Given the description of an element on the screen output the (x, y) to click on. 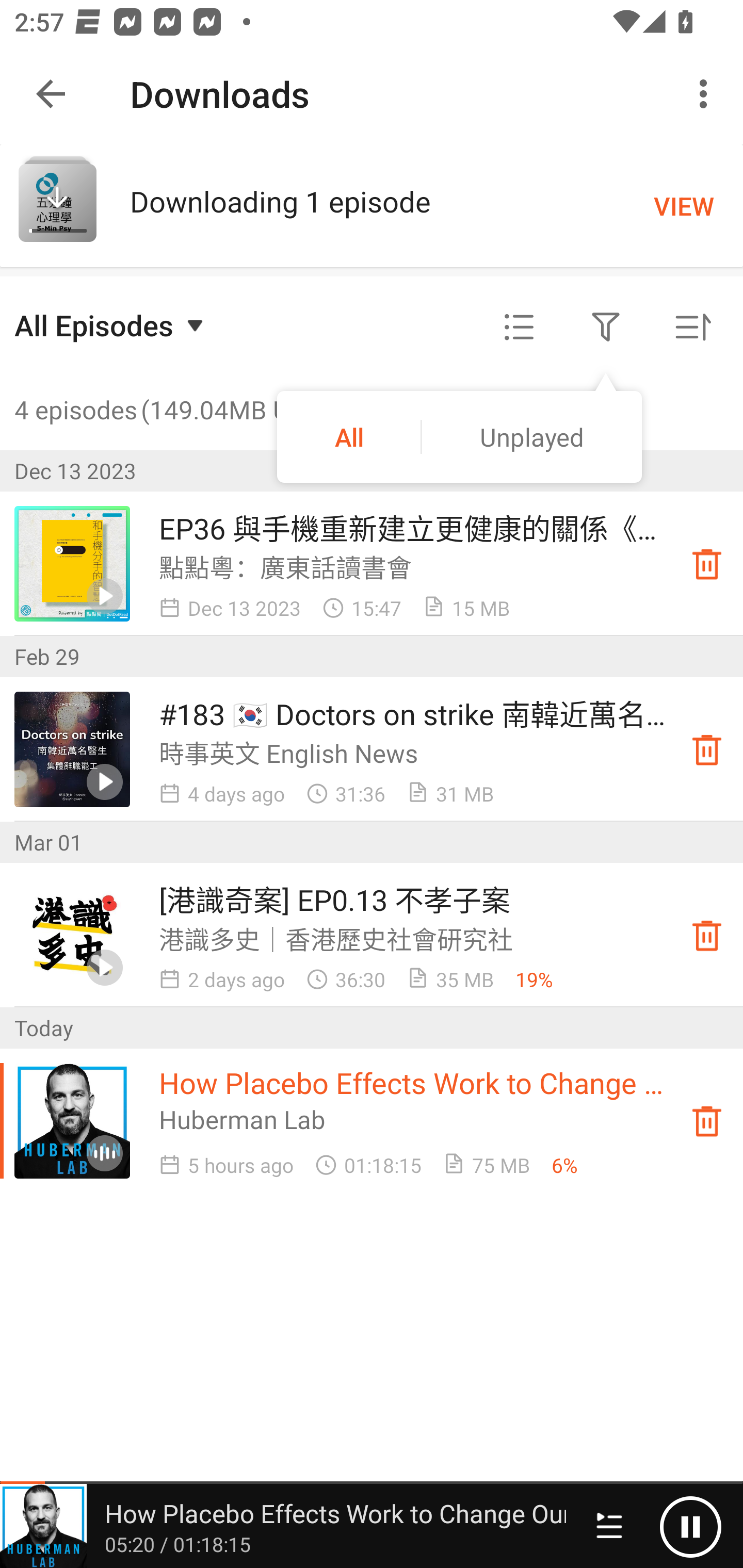
All (349, 436)
Unplayed (531, 436)
